Given the description of an element on the screen output the (x, y) to click on. 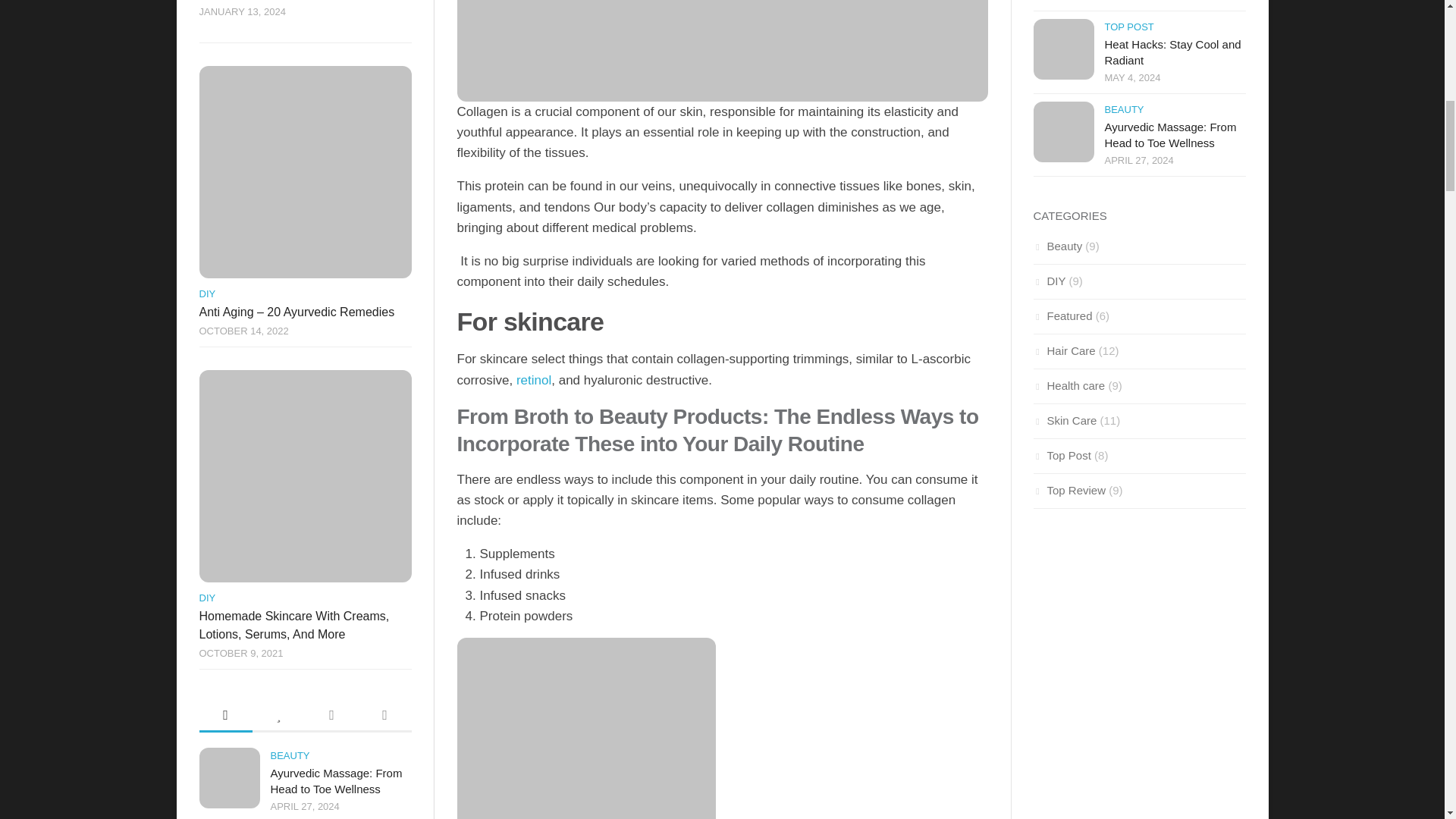
Recent Posts (224, 716)
collagen (722, 50)
retinol (533, 380)
